Given the description of an element on the screen output the (x, y) to click on. 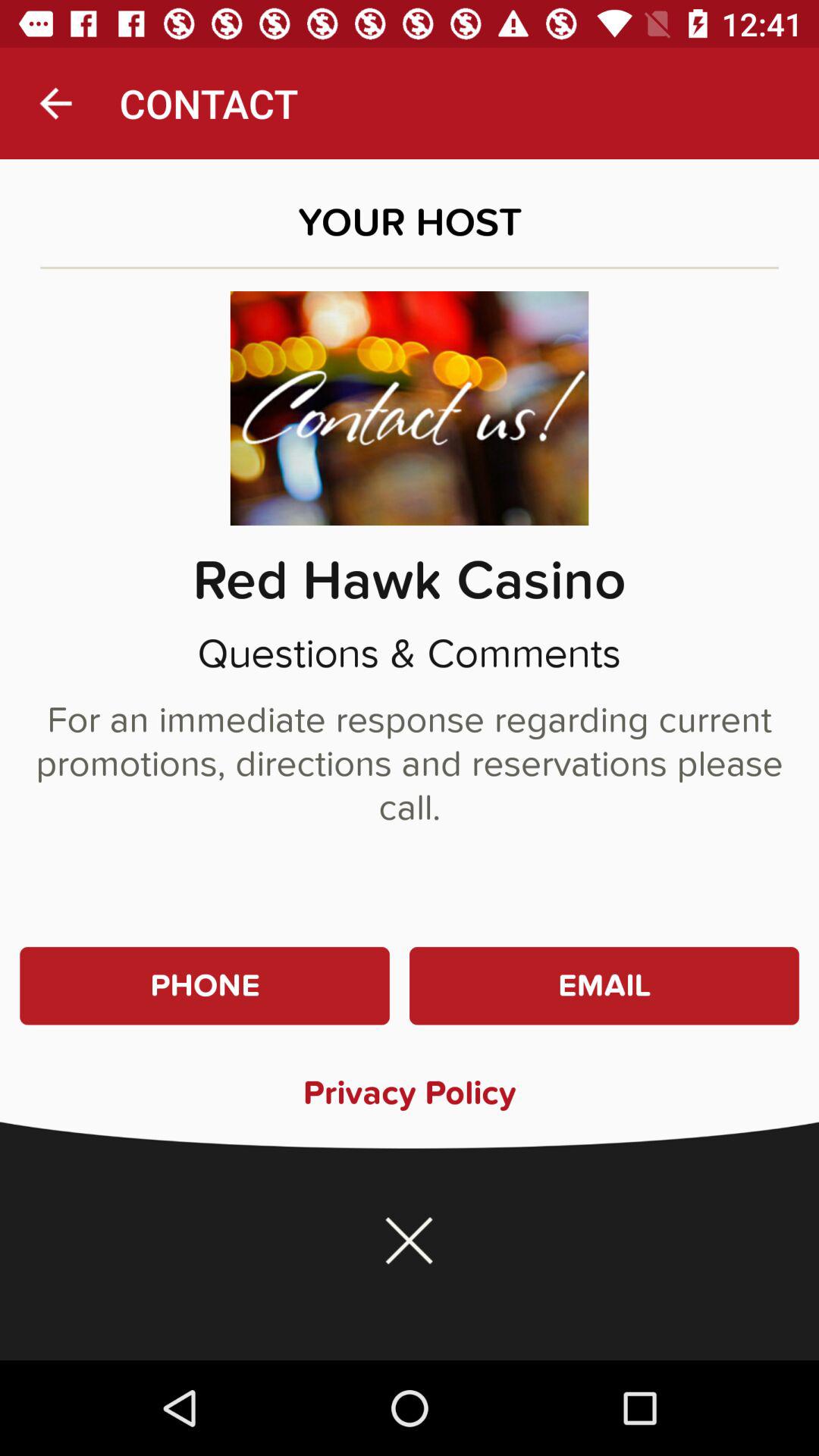
open item at the bottom right corner (604, 985)
